Given the description of an element on the screen output the (x, y) to click on. 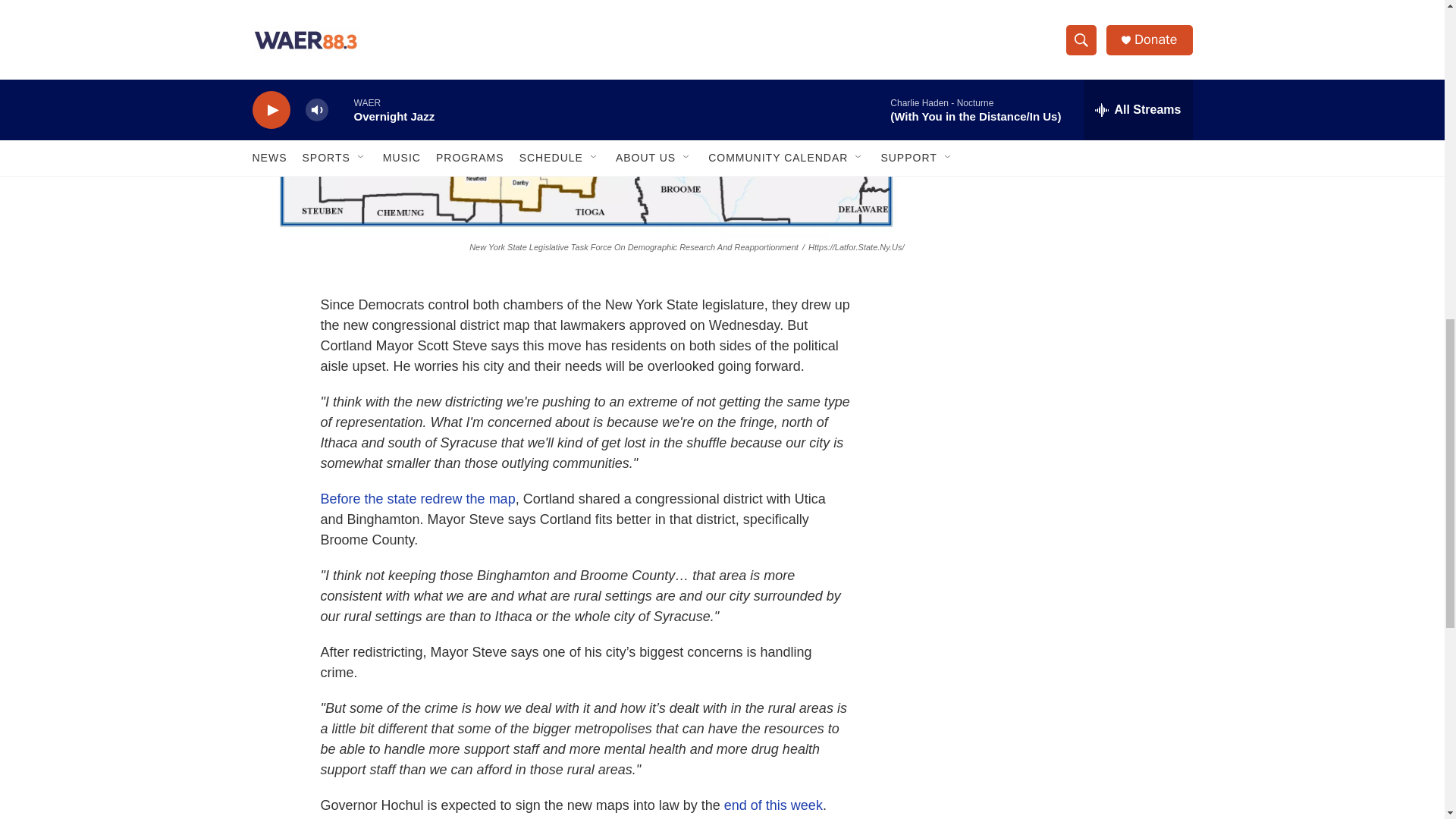
3rd party ad content (1062, 16)
